Given the description of an element on the screen output the (x, y) to click on. 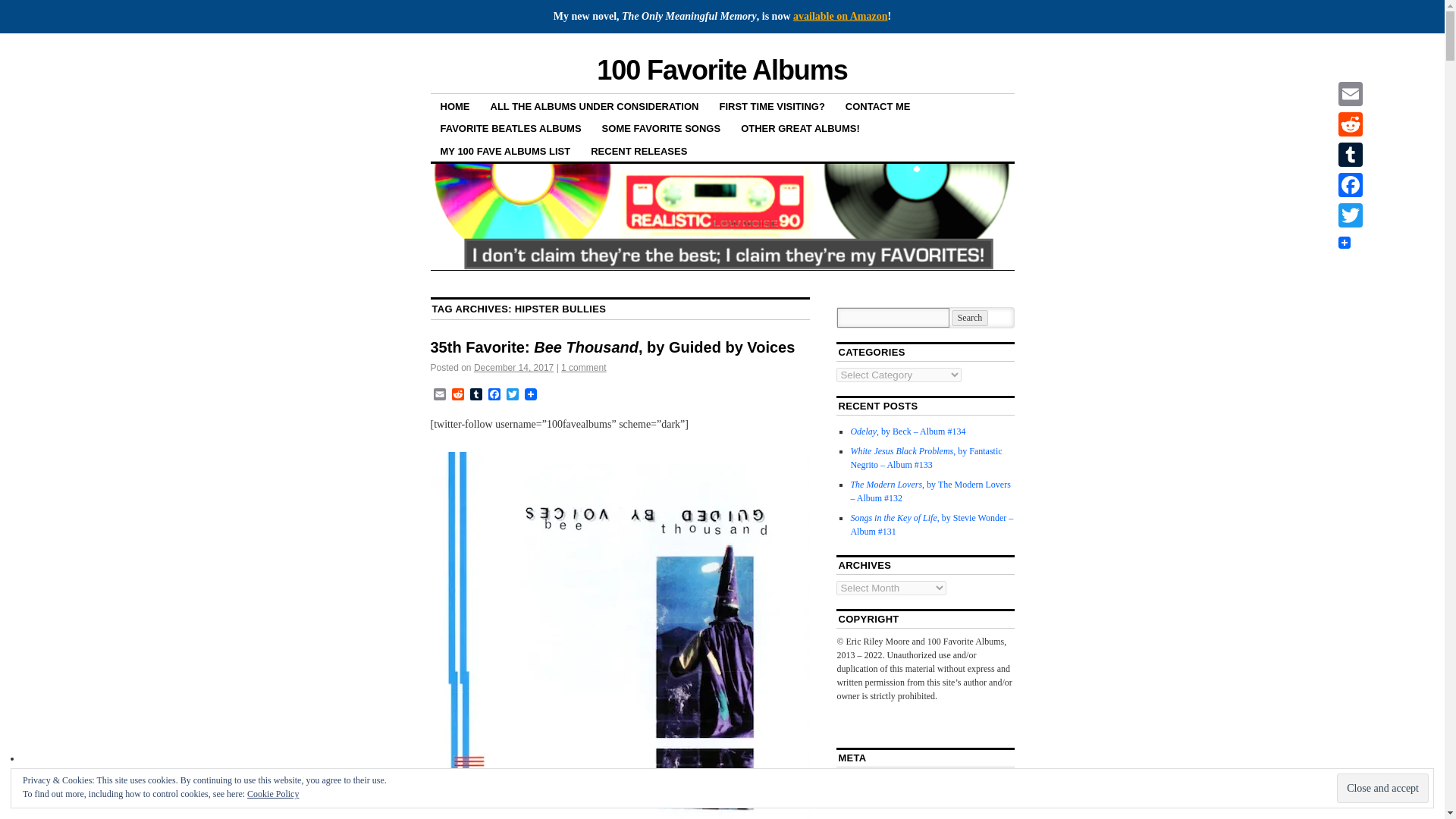
Reddit (457, 395)
ALL THE ALBUMS UNDER CONSIDERATION (594, 106)
100 Favorite Albums (721, 69)
RECENT RELEASES (638, 149)
OTHER GREAT ALBUMS! (799, 127)
35th Favorite: Bee Thousand, by Guided by Voices (612, 347)
Close and accept (1382, 788)
Email (439, 395)
MY 100 FAVE ALBUMS LIST (505, 149)
Tumblr (475, 395)
available on Amazon (839, 16)
Facebook (493, 395)
Email (439, 395)
1 comment (582, 367)
Search (970, 317)
